Given the description of an element on the screen output the (x, y) to click on. 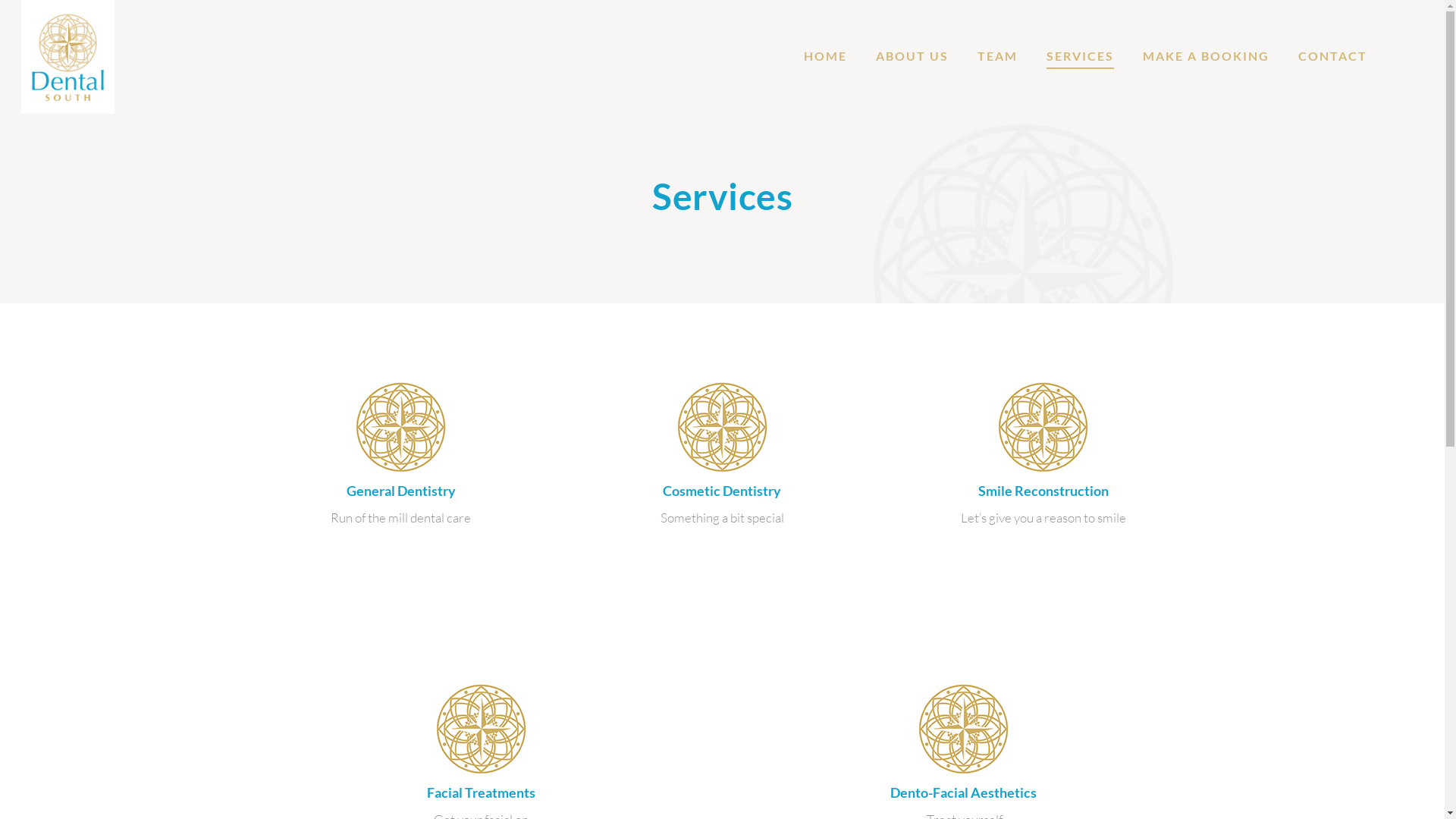
TEAM Element type: text (997, 56)
CONTACT Element type: text (1332, 56)
HOME Element type: text (825, 56)
MAKE A BOOKING Element type: text (1205, 56)
Dento-Facial Aesthetics Element type: text (963, 792)
Cosmetic Dentistry Element type: text (721, 490)
General Dentistry Element type: text (400, 490)
SERVICES Element type: text (1079, 56)
Facial Treatments Element type: text (480, 792)
Smile Reconstruction Element type: text (1043, 490)
ABOUT US Element type: text (911, 56)
